Given the description of an element on the screen output the (x, y) to click on. 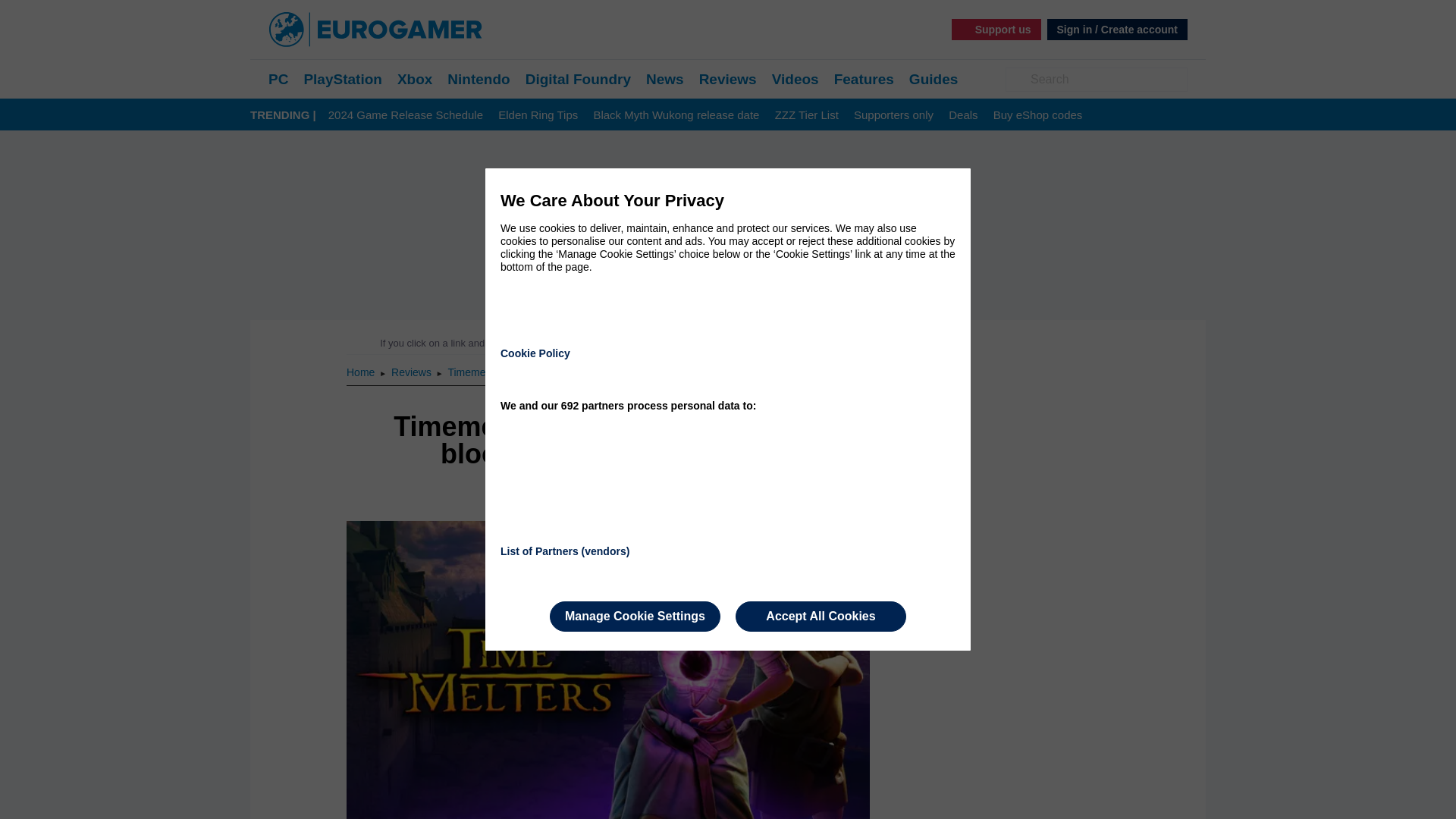
Buy eShop codes (1037, 114)
Videos (794, 78)
Timemelters (475, 372)
Black Myth Wukong release date (675, 114)
Guides (933, 78)
Xbox (414, 78)
Home (361, 372)
2024 Game Release Schedule (406, 114)
2024 Game Release Schedule (406, 114)
Nintendo (477, 78)
